Given the description of an element on the screen output the (x, y) to click on. 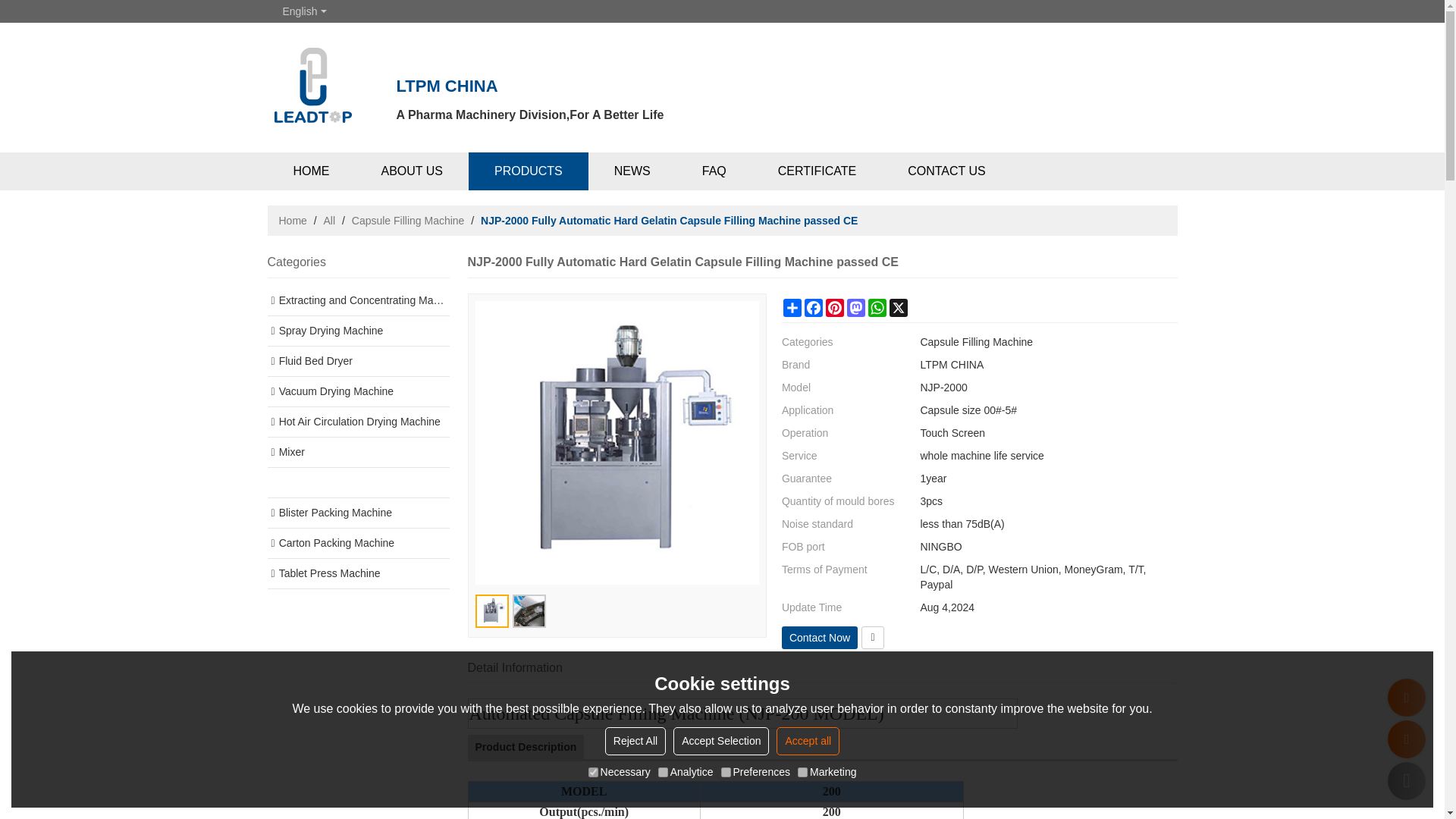
Hot Air Circulation Drying Machine (357, 421)
Home (293, 220)
NEWS (632, 171)
Capsule Filling Machine (408, 220)
on (663, 772)
ABOUT US (411, 171)
HOME (310, 171)
Fluid Bed Dryer (357, 360)
LeadTop Pharmaceutical Machinery Co., LTD (312, 72)
Mixer (357, 451)
FAQ (714, 171)
Spray Drying Machine (357, 330)
on (725, 772)
Capsule Filling Machine (357, 482)
on (593, 772)
